Given the description of an element on the screen output the (x, y) to click on. 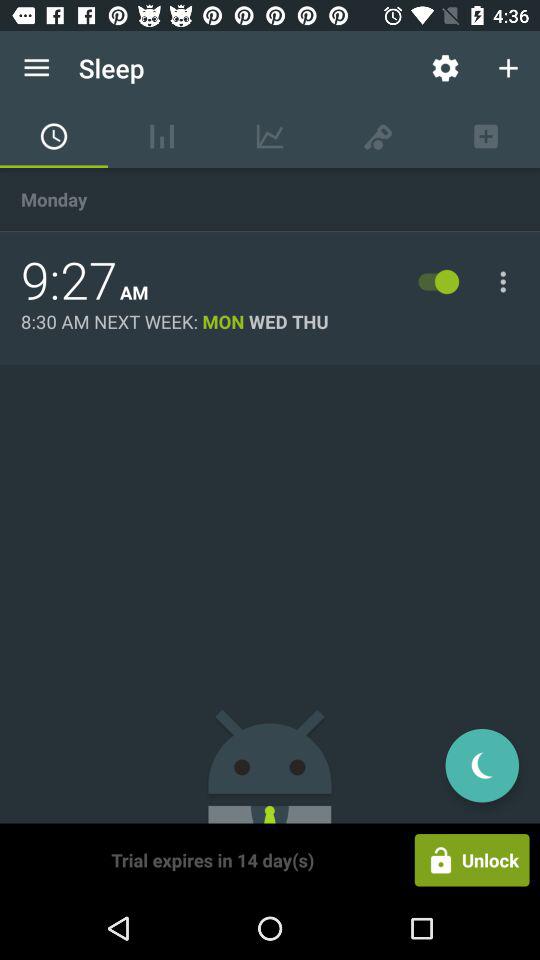
press the 9:27 item (69, 281)
